Given the description of an element on the screen output the (x, y) to click on. 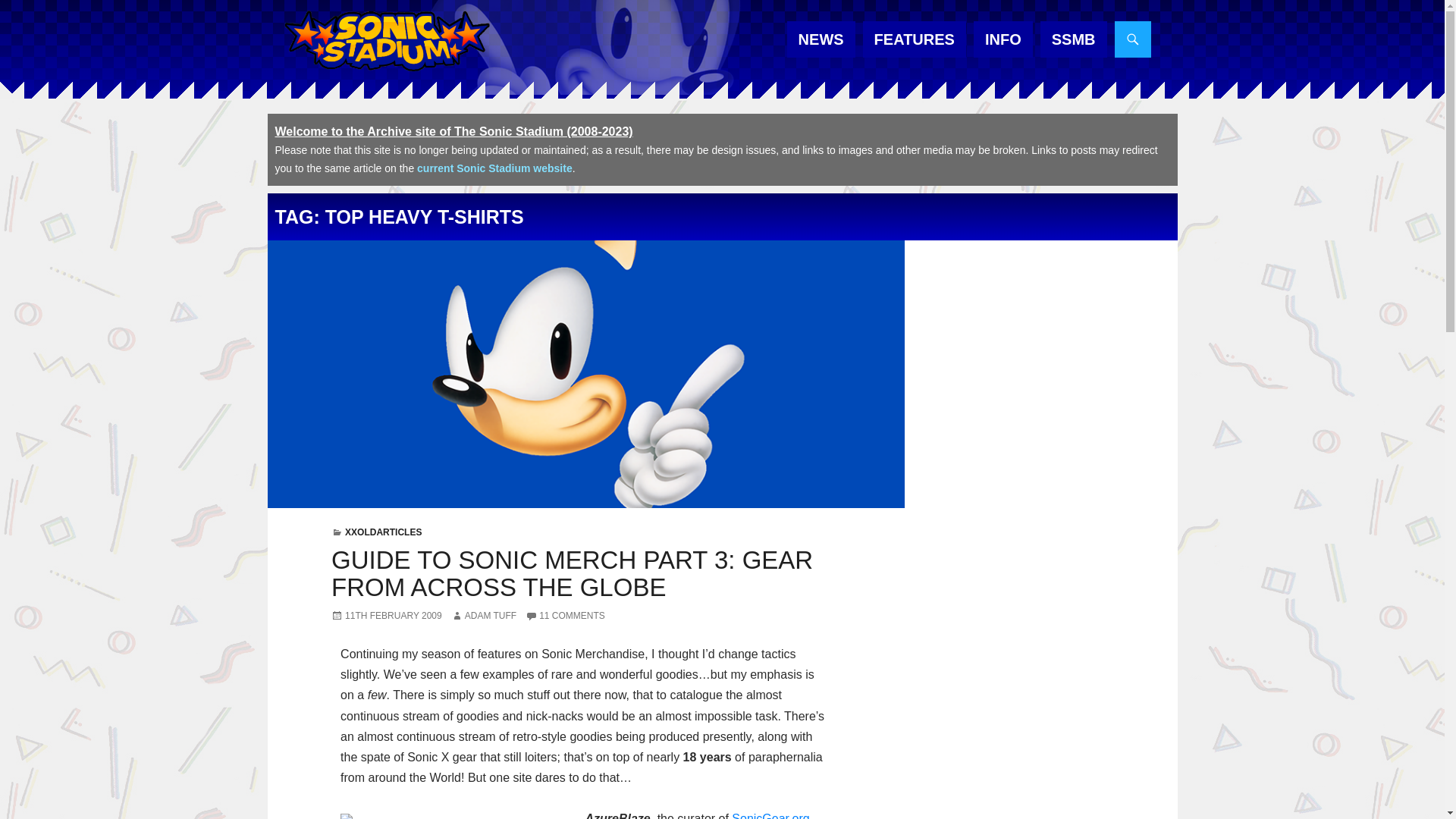
Go back to the HOME Page... (385, 40)
NEWS (821, 39)
FEATURES (914, 39)
gearpic2 (453, 816)
SSMB (1073, 39)
Advertisement (1040, 482)
INFO (1003, 39)
